Given the description of an element on the screen output the (x, y) to click on. 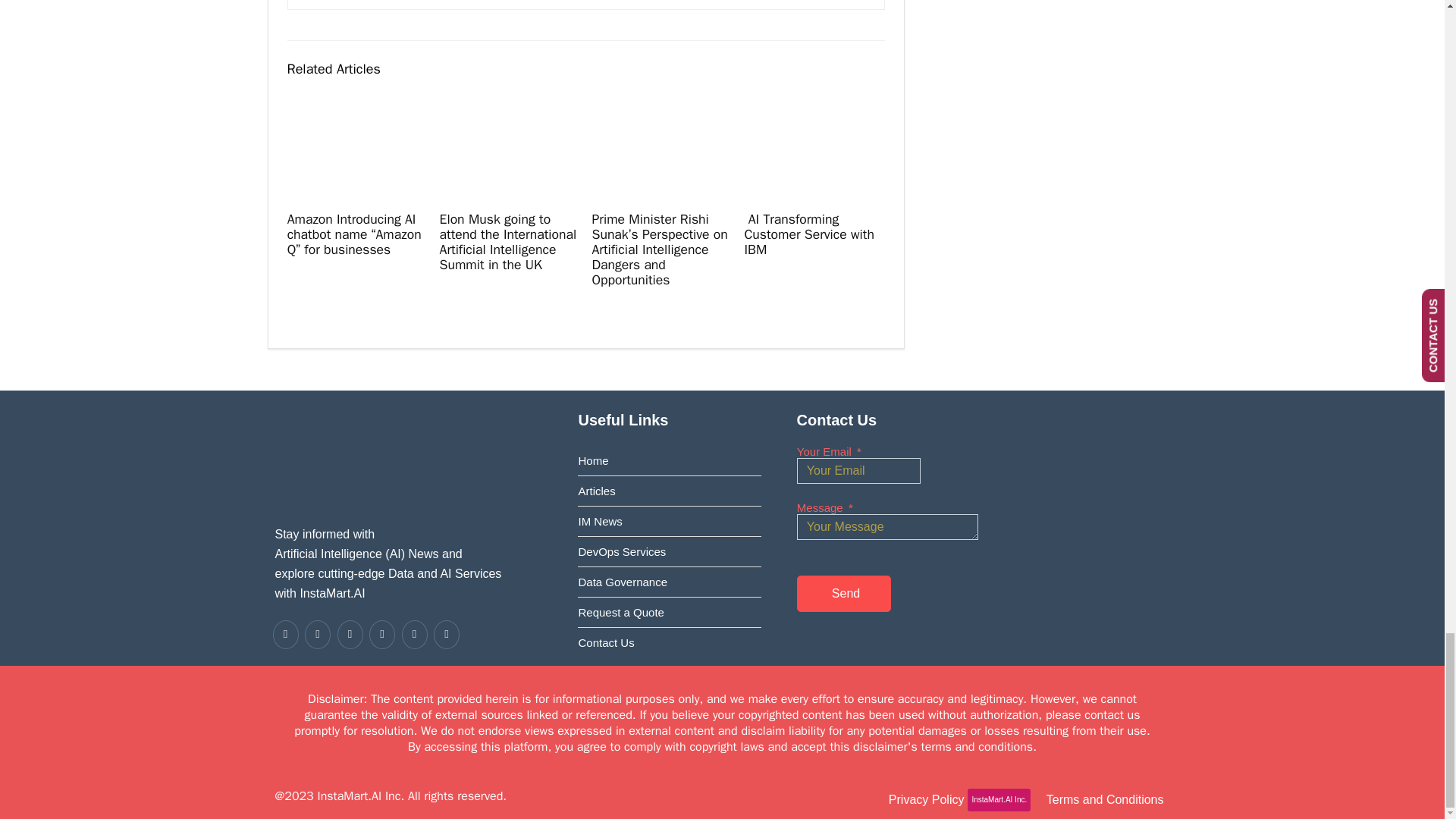
 AI Transforming Customer Service with IBM (808, 233)
